Given the description of an element on the screen output the (x, y) to click on. 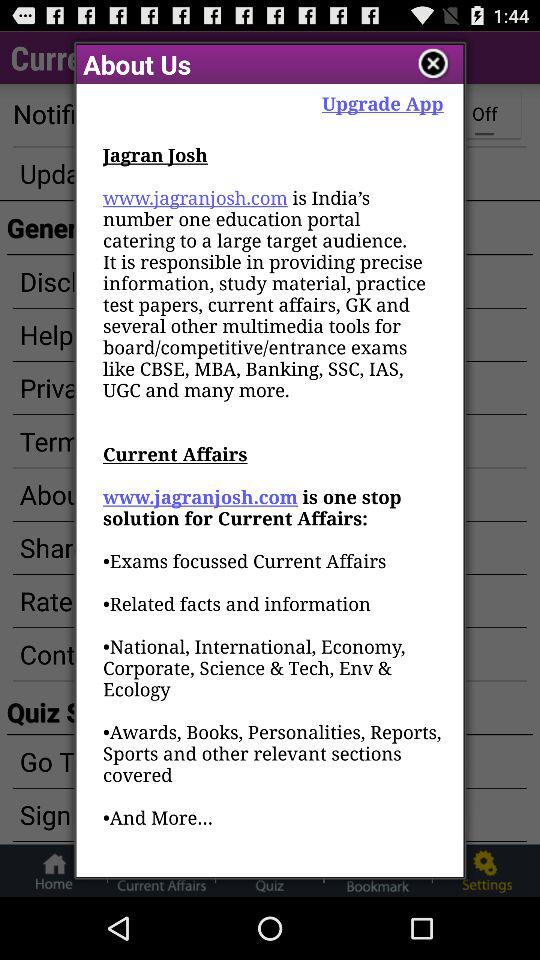
press item above upgrade app (433, 63)
